Given the description of an element on the screen output the (x, y) to click on. 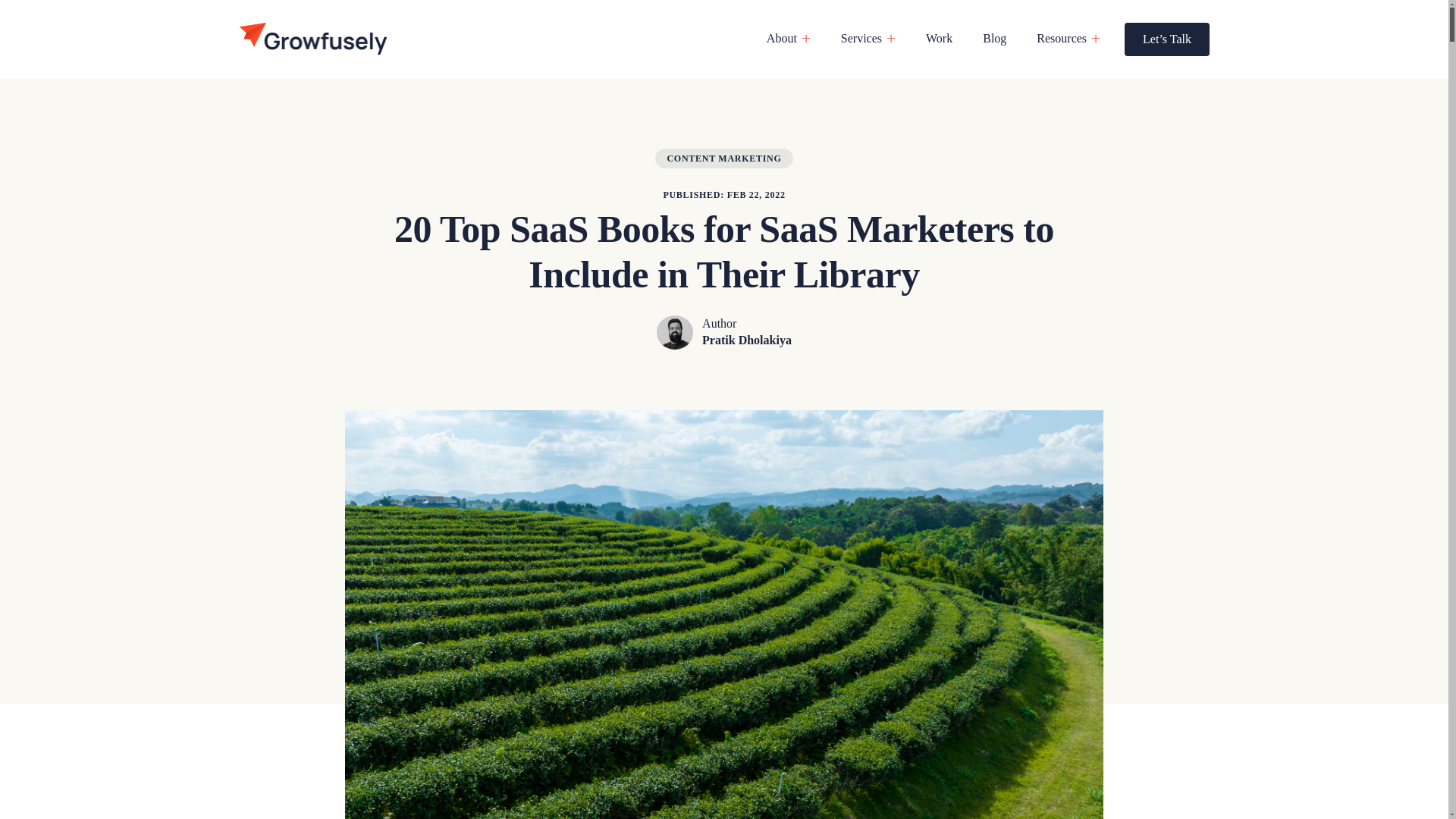
Work (939, 38)
About (781, 38)
Resources (1061, 38)
CONTENT MARKETING (723, 158)
Services (861, 38)
